Given the description of an element on the screen output the (x, y) to click on. 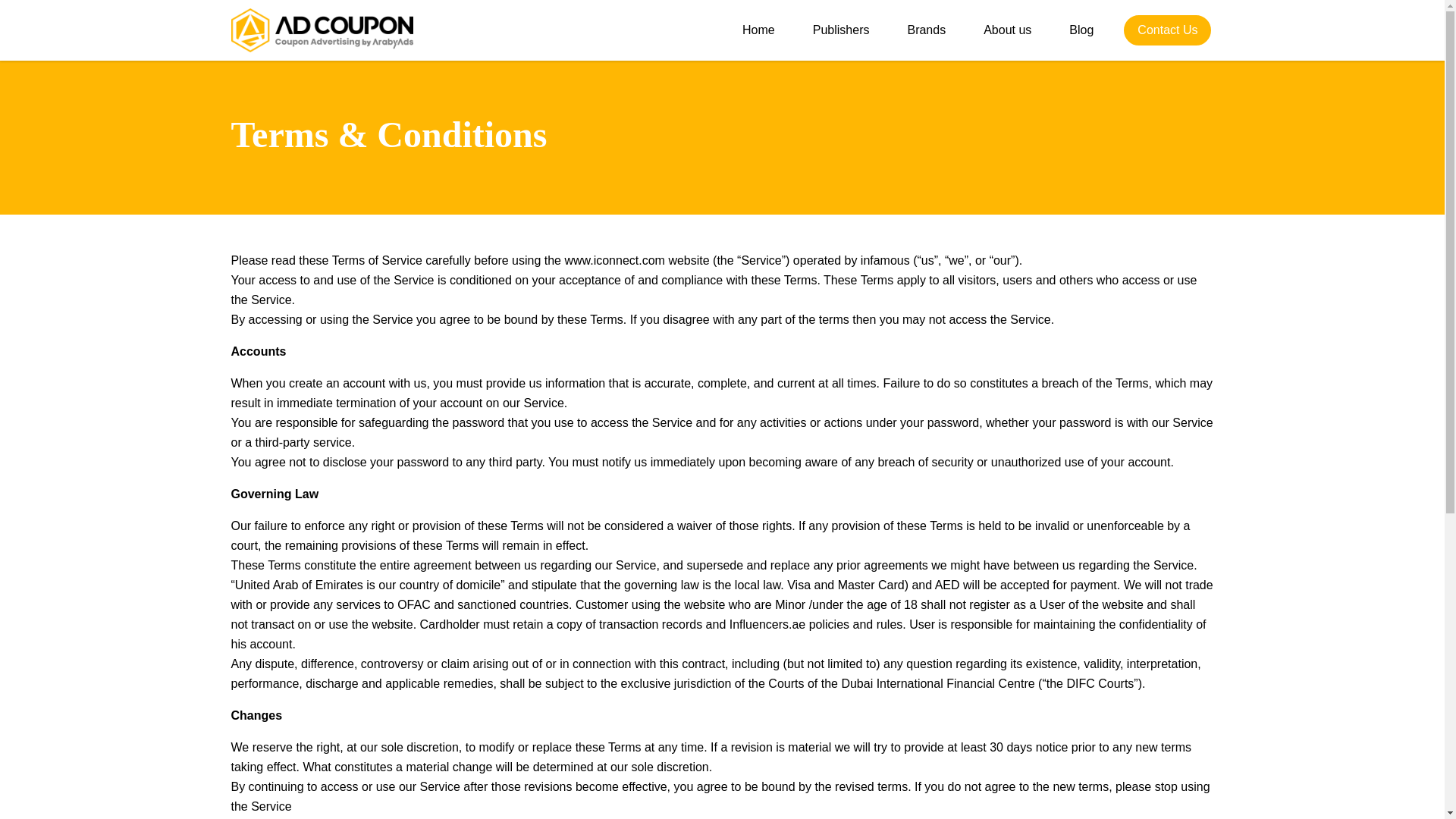
Brands (926, 29)
Contact Us (1167, 30)
Publishers (841, 29)
Home (759, 29)
About us (1007, 29)
Blog (1080, 29)
